Given the description of an element on the screen output the (x, y) to click on. 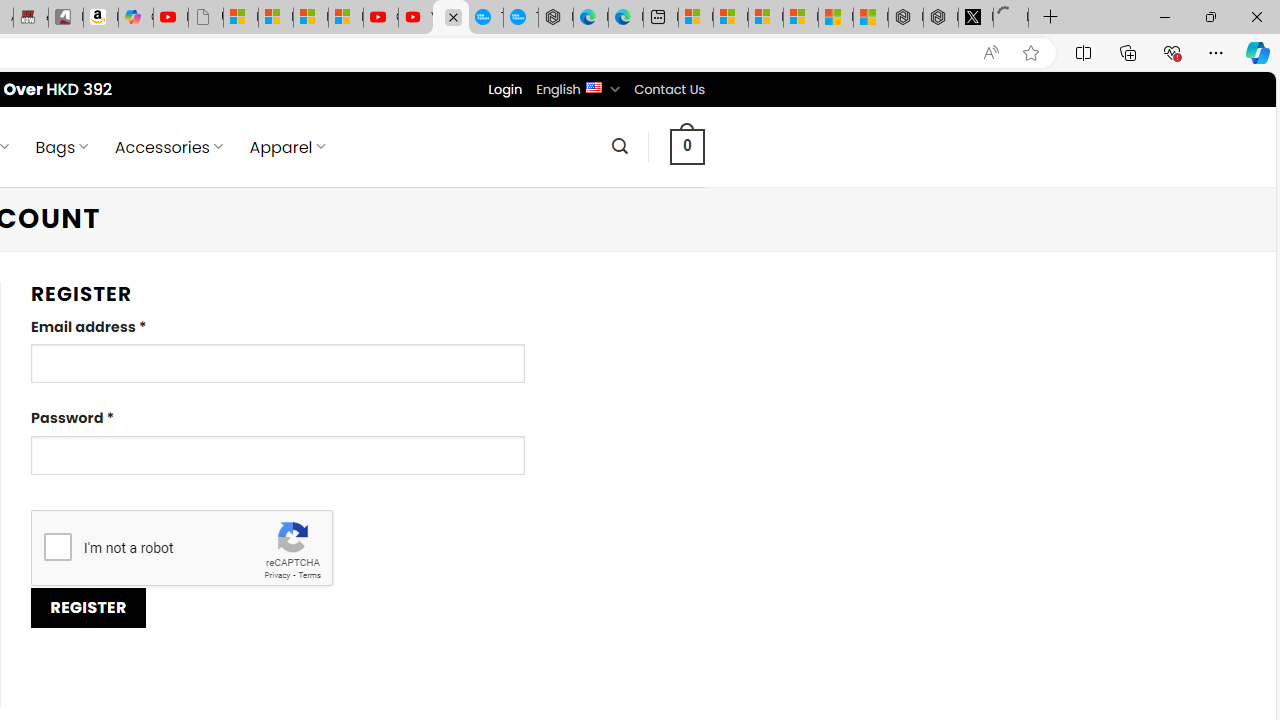
English (592, 86)
Untitled (1010, 17)
Privacy (276, 575)
Copilot (136, 17)
Nordace (@NordaceOfficial) / X (975, 17)
